Given the description of an element on the screen output the (x, y) to click on. 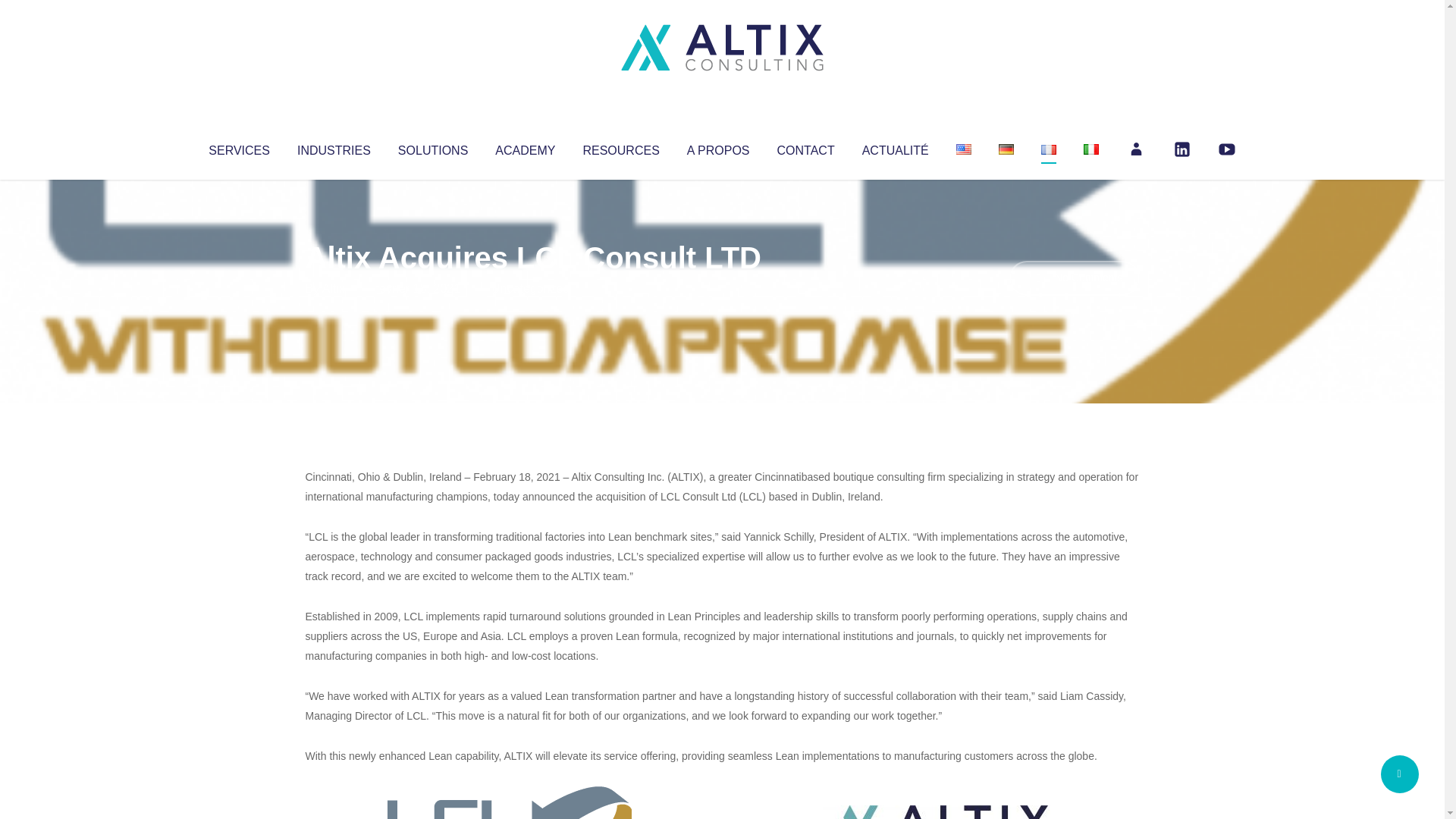
Articles par Altix (333, 287)
ACADEMY (524, 146)
Altix (333, 287)
RESOURCES (620, 146)
A PROPOS (718, 146)
No Comments (1073, 278)
INDUSTRIES (334, 146)
Uncategorized (530, 287)
SERVICES (238, 146)
SOLUTIONS (432, 146)
